Given the description of an element on the screen output the (x, y) to click on. 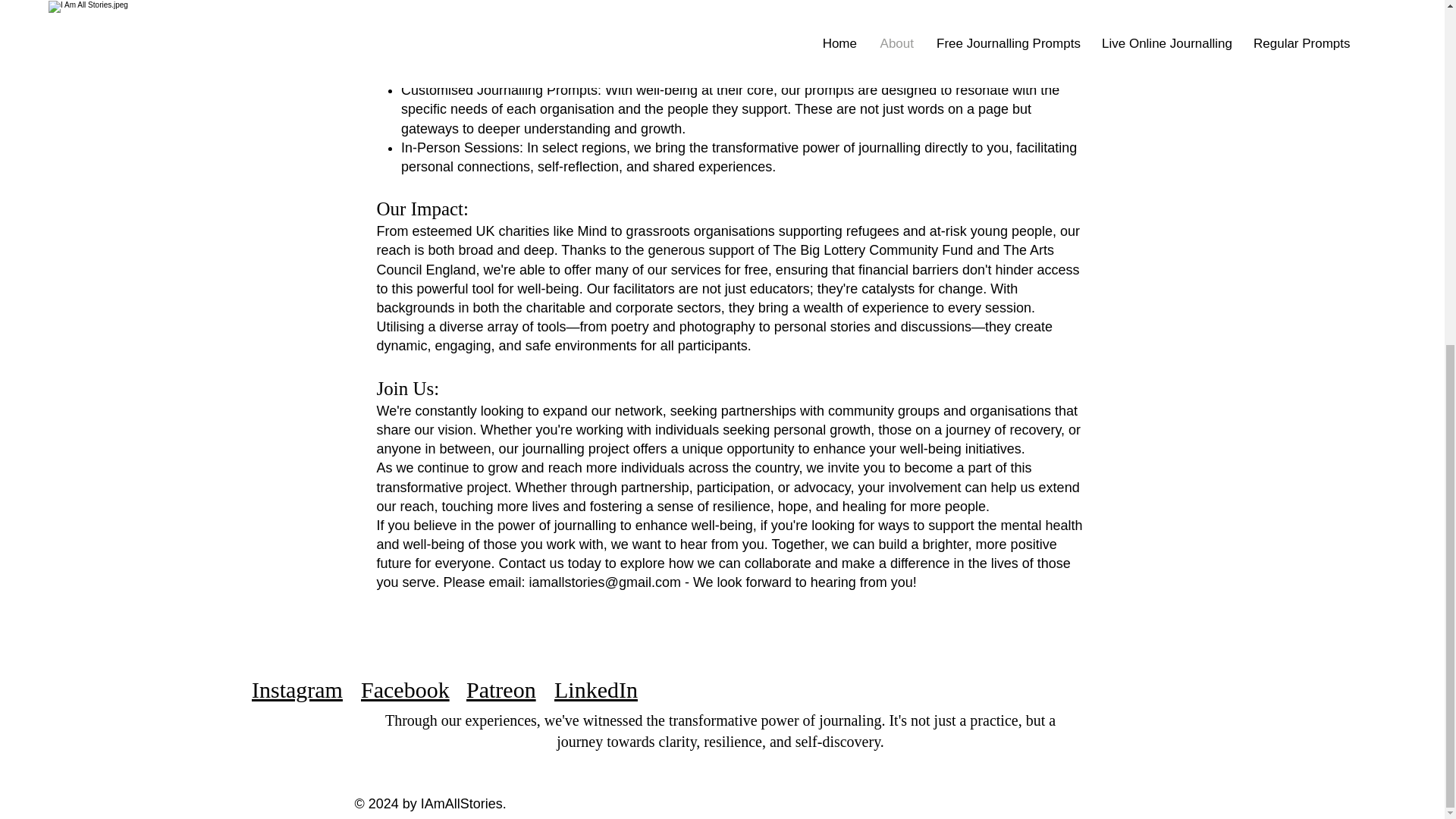
Patreon (500, 689)
Instagram (296, 689)
Facebook (405, 689)
LinkedIn (595, 689)
